Given the description of an element on the screen output the (x, y) to click on. 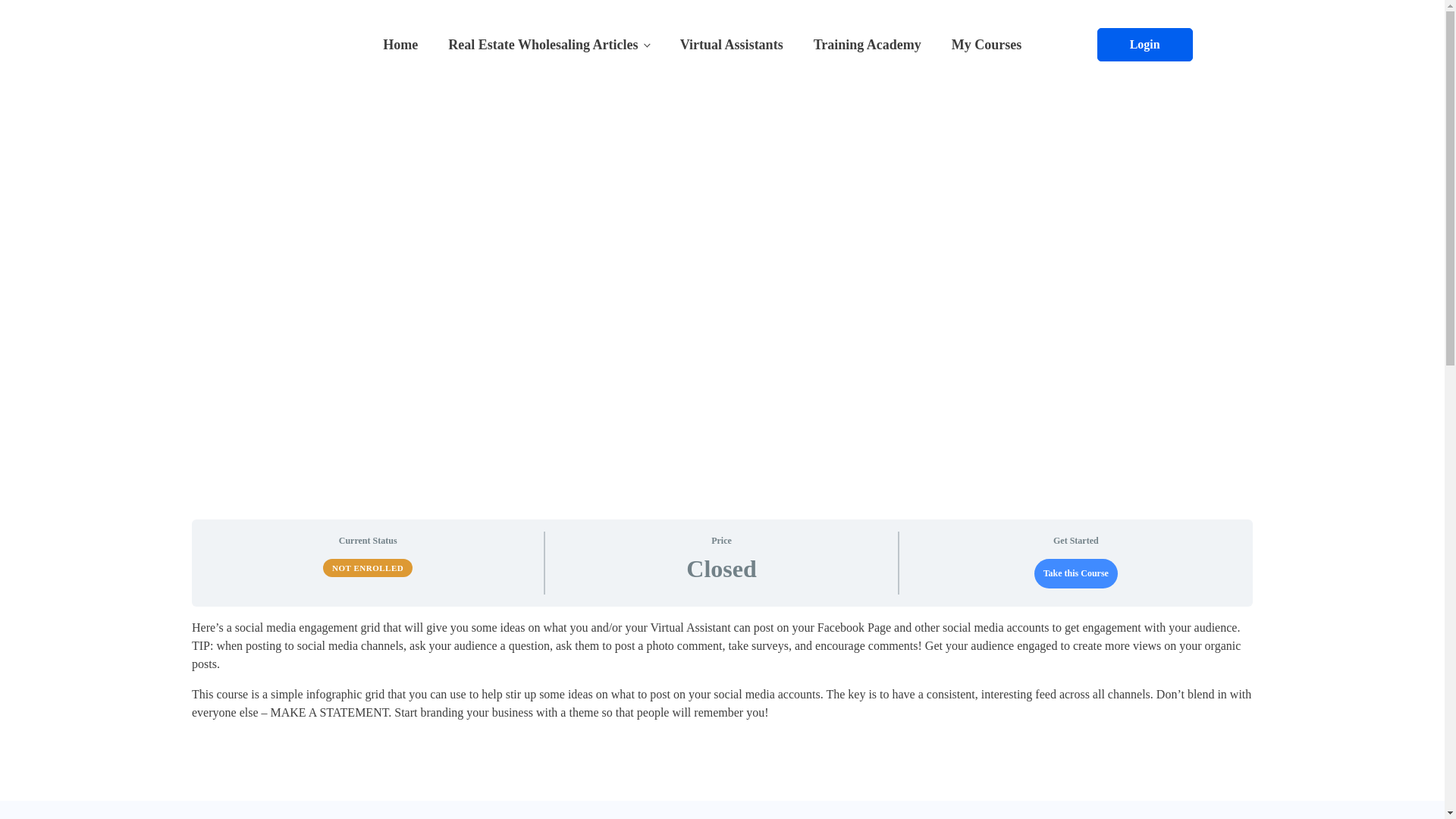
Virtual Assistants (731, 43)
Login (1144, 43)
My Courses (986, 43)
Training Academy (866, 43)
Real Estate Wholesaling Articles (547, 43)
Take this Course (1075, 572)
Home (400, 43)
